Given the description of an element on the screen output the (x, y) to click on. 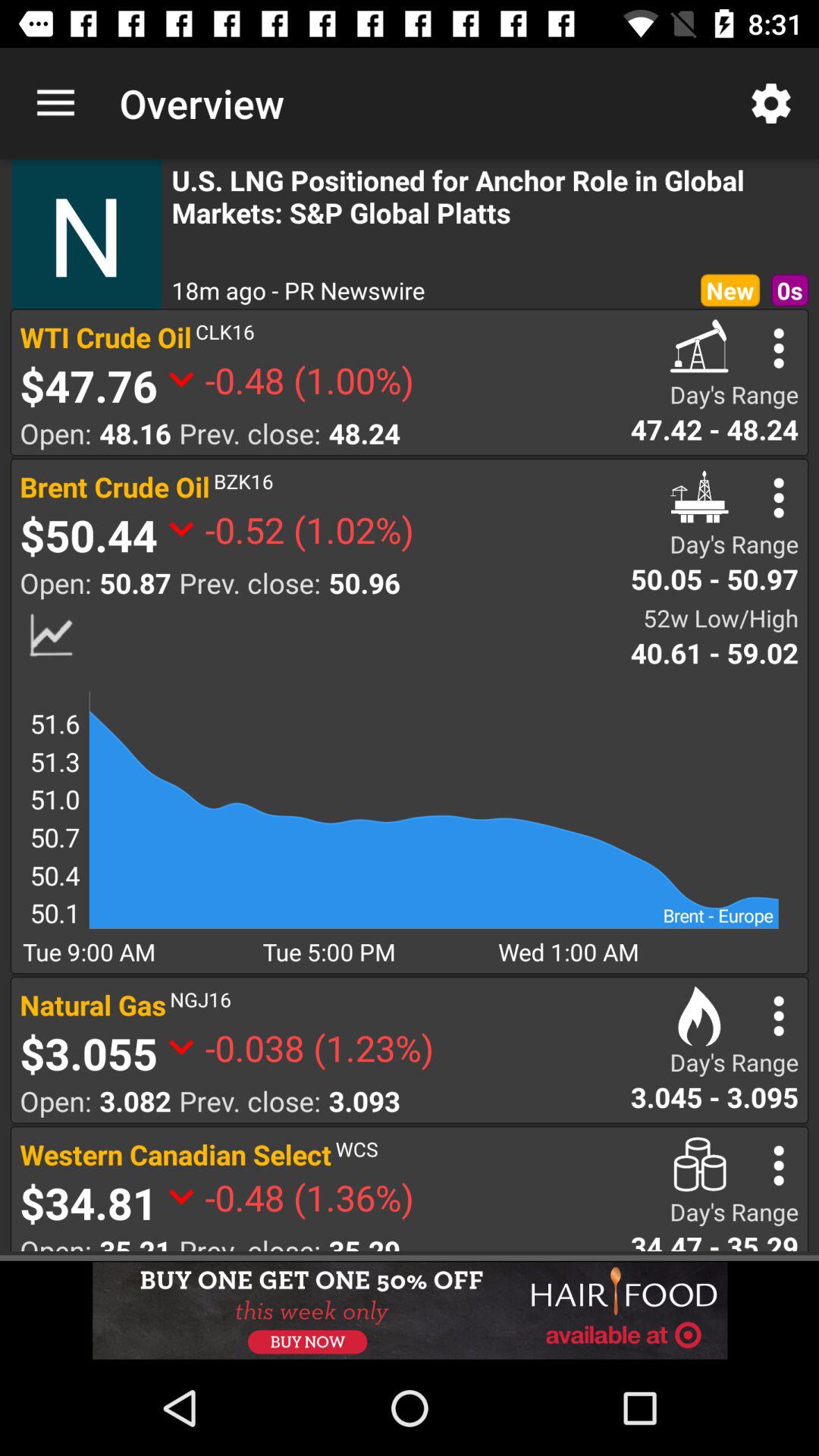
select the option icon which is right to the fire icon (779, 1016)
